Given the description of an element on the screen output the (x, y) to click on. 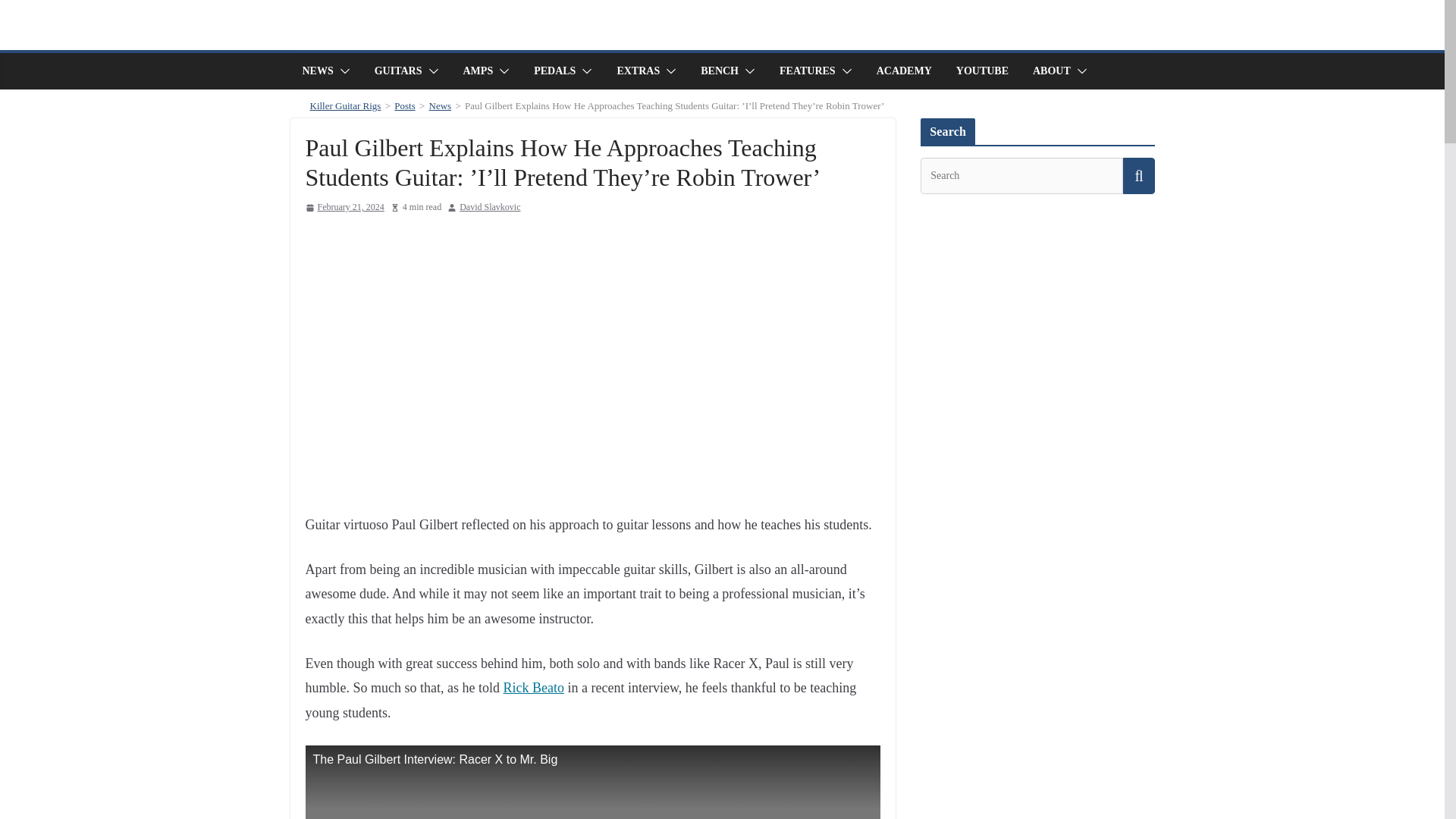
Go to the News Category archives. (440, 105)
YOUTUBE (982, 70)
NEWS (317, 70)
The Paul Gilbert Interview: Racer X to Mr. Big (591, 782)
FEATURES (806, 70)
Go to Killer Guitar Rigs. (344, 105)
PEDALS (554, 70)
Go to Posts. (404, 105)
4:56 pm (344, 207)
David Slavkovic (489, 207)
